Given the description of an element on the screen output the (x, y) to click on. 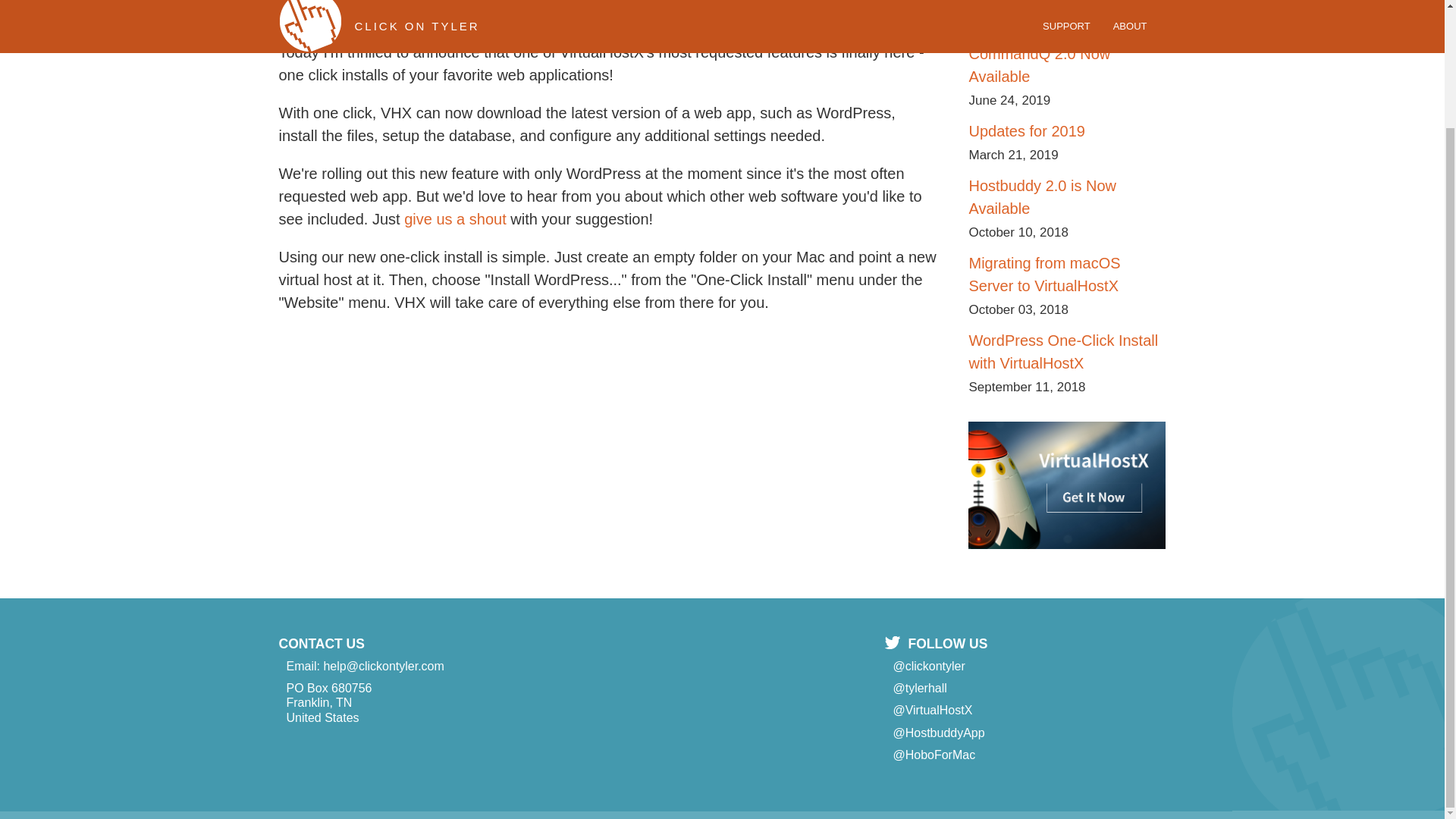
WordPress One-Click Install with VirtualHostX (1062, 351)
give us a shout (455, 218)
Updates for 2019 (1026, 130)
Hostbuddy 2.0 is Now Available (1042, 197)
Migrating from macOS Server to VirtualHostX (1043, 274)
Say Hello to VirtualHostX Pro (1053, 3)
CommandQ 2.0 Now Available (1038, 65)
